Given the description of an element on the screen output the (x, y) to click on. 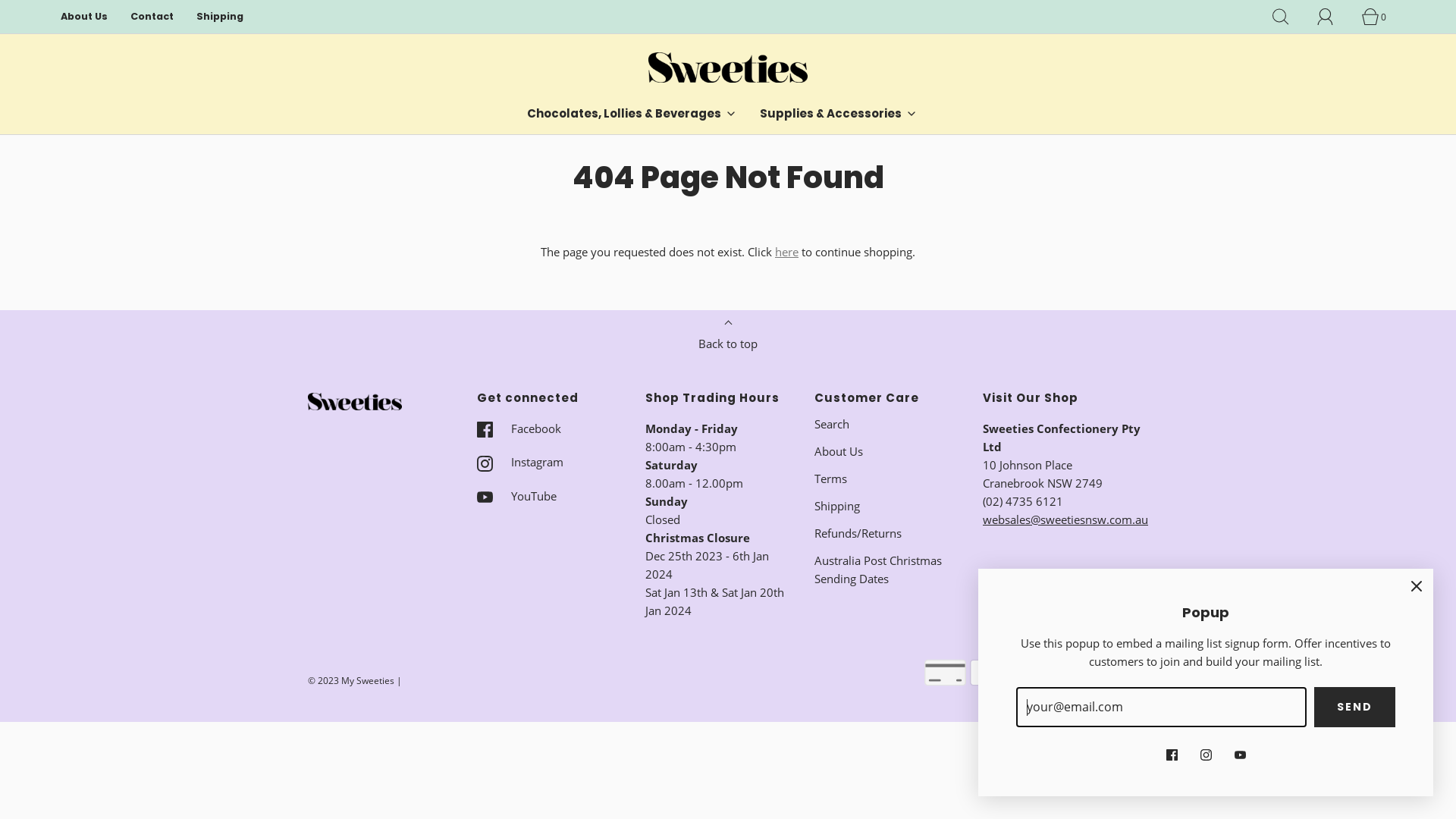
SEND Element type: text (1354, 707)
Shipping Element type: text (836, 505)
Search Element type: hover (1288, 16)
YouTube icon Element type: text (1239, 752)
Supplies & Accessories Element type: text (838, 113)
About Us Element type: text (838, 450)
Contact Element type: text (151, 16)
Log in Element type: hover (1333, 16)
Search Element type: text (831, 423)
Australia Post Christmas Sending Dates Element type: text (886, 569)
here Element type: text (786, 251)
Facebook icon Element type: text (1171, 752)
websales@sweetiesnsw.com.au Element type: text (1065, 519)
Back to top Element type: text (727, 338)
About Us Element type: text (83, 16)
YouTube icon YouTube Element type: text (515, 495)
Instagram icon Instagram Element type: text (519, 461)
Facebook icon Facebook Element type: text (518, 428)
Chocolates, Lollies & Beverages Element type: text (632, 113)
Instagram icon Element type: text (1205, 752)
Terms Element type: text (830, 478)
Refunds/Returns Element type: text (857, 532)
0 Element type: text (1378, 16)
Shipping Element type: text (219, 16)
